Given the description of an element on the screen output the (x, y) to click on. 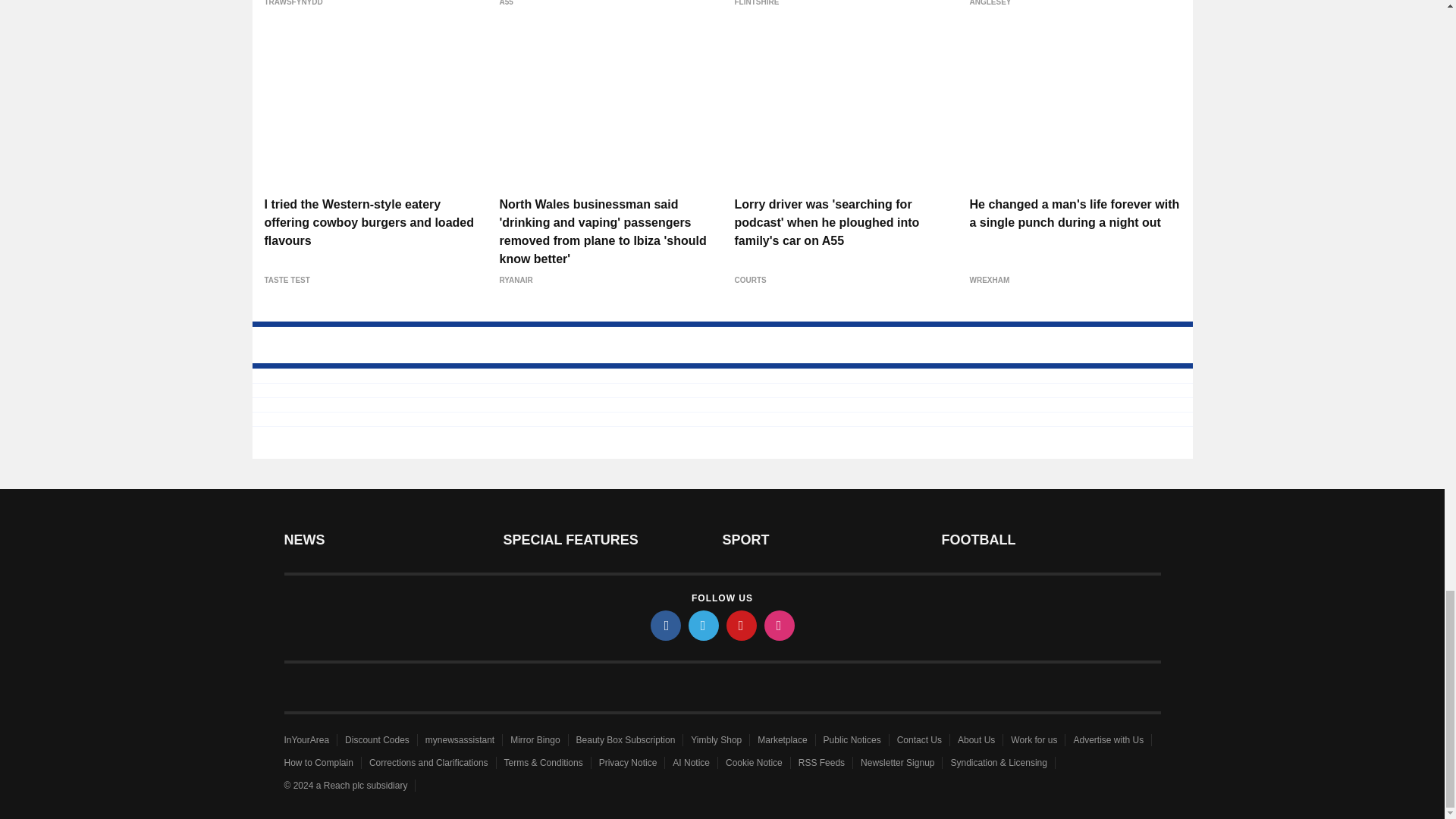
facebook (665, 625)
pinterest (741, 625)
twitter (703, 625)
instagram (779, 625)
